Given the description of an element on the screen output the (x, y) to click on. 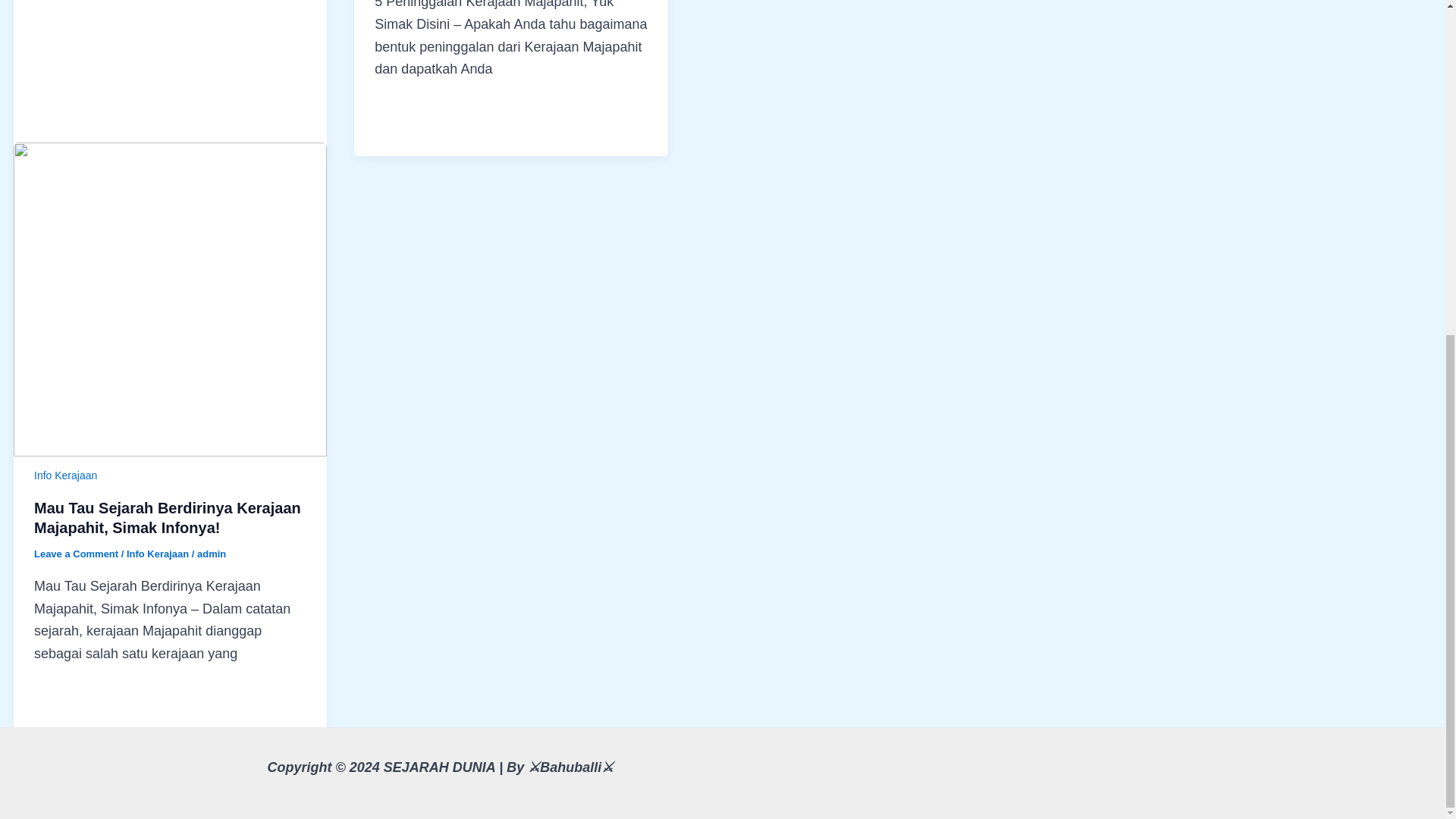
Leave a Comment (75, 553)
admin (210, 553)
Info Kerajaan (65, 475)
Info Kerajaan (157, 553)
View all posts by admin (210, 553)
